Given the description of an element on the screen output the (x, y) to click on. 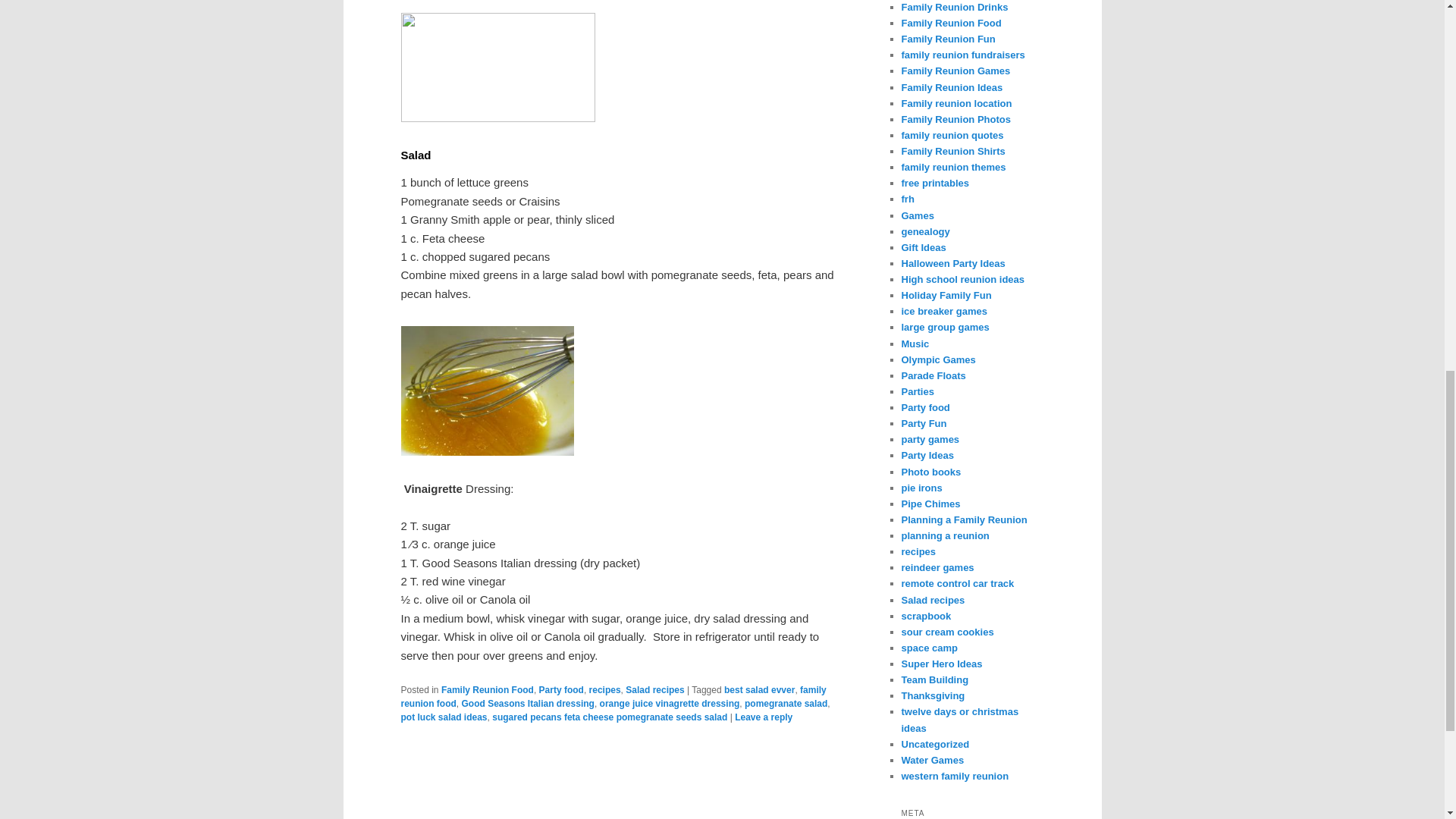
Salad recipes (655, 689)
pot luck salad ideas (443, 716)
recipes (605, 689)
Party food (560, 689)
best salad evver (758, 689)
Family Reunion Food (487, 689)
Leave a reply (763, 716)
orange juice vinagrette dressing (669, 703)
family reunion food (612, 696)
Good Seasons Italian dressing (527, 703)
